Given the description of an element on the screen output the (x, y) to click on. 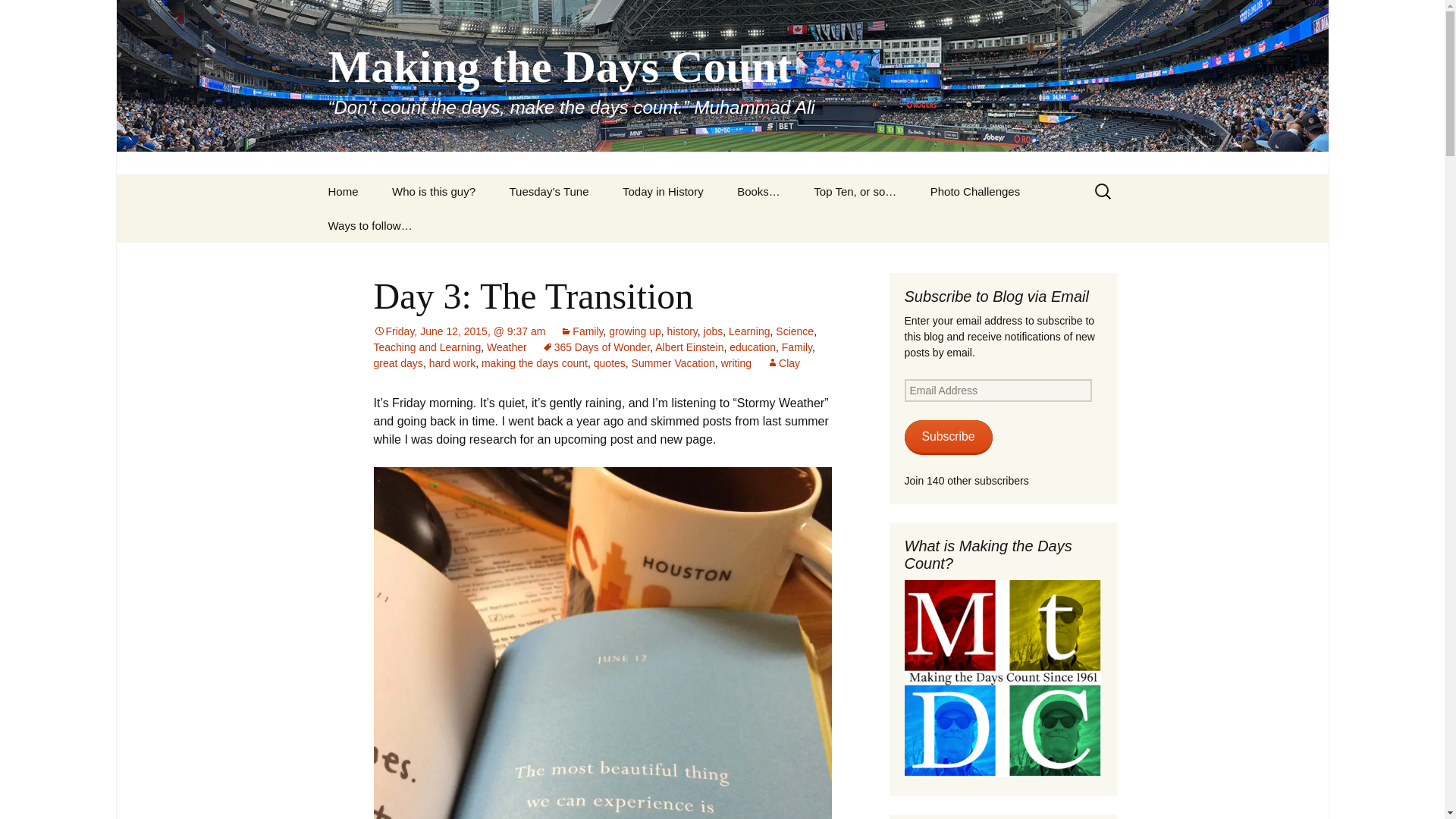
About.. (452, 225)
education (752, 346)
quotes (610, 363)
making the days count (534, 363)
Home (342, 191)
Weather (506, 346)
365 Days of Wonder (595, 346)
Teaching and Learning (426, 346)
great days (397, 363)
